Given the description of an element on the screen output the (x, y) to click on. 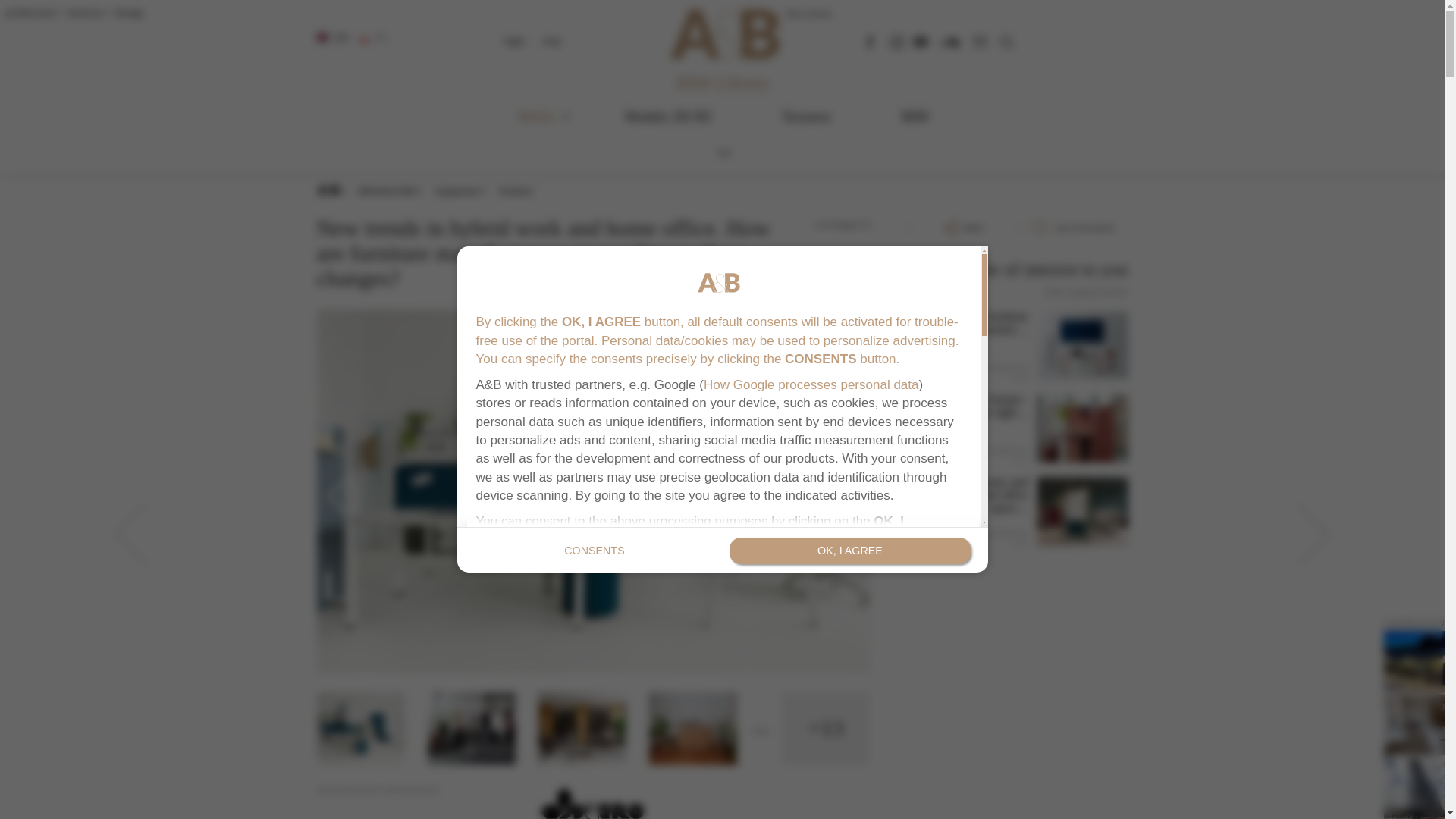
BIM Library (723, 82)
login (513, 40)
Textures (804, 120)
PL (374, 38)
BIM (914, 120)
shop (552, 40)
